Given the description of an element on the screen output the (x, y) to click on. 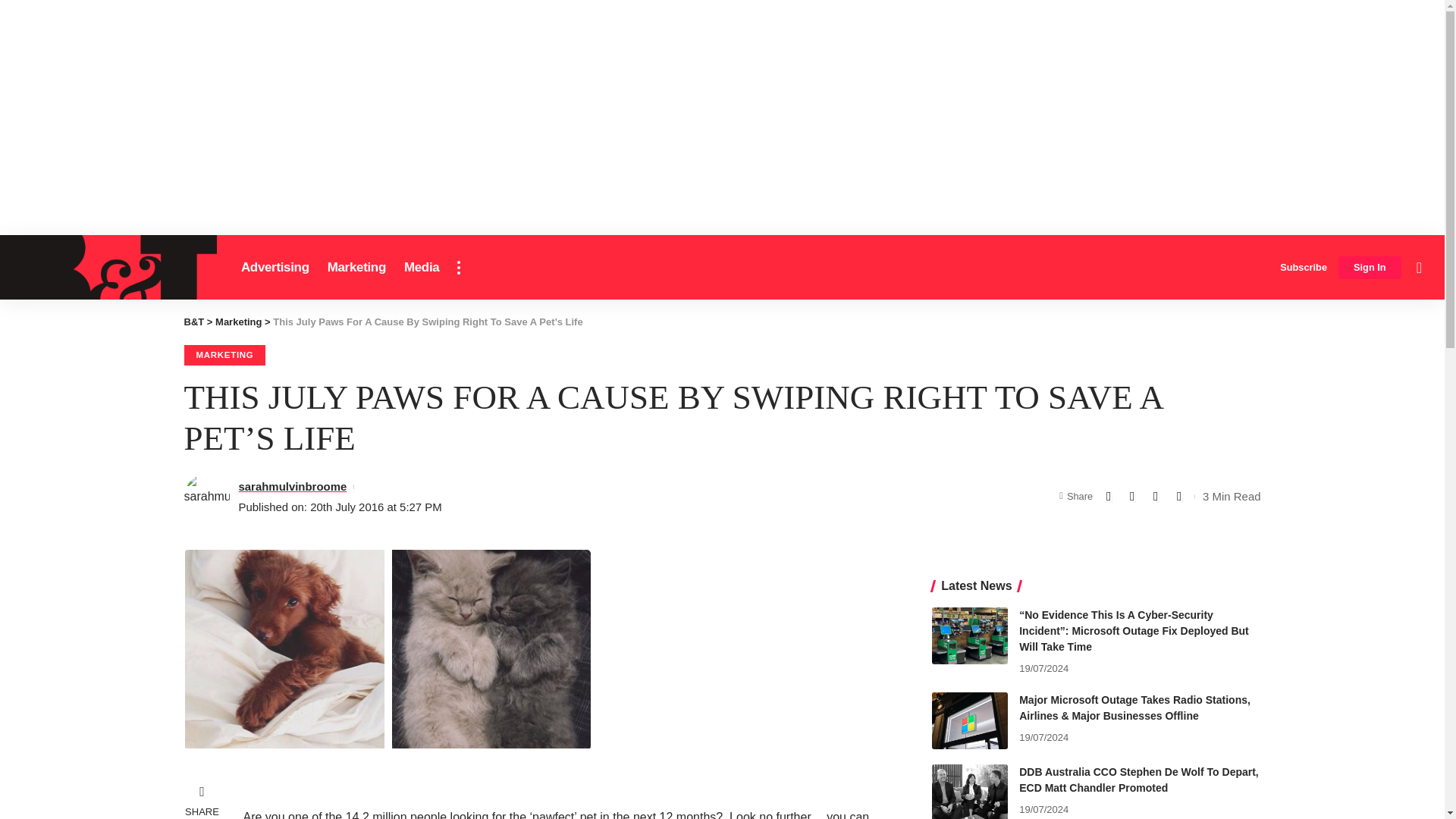
Go to the Marketing Category archives. (238, 321)
Marketing (356, 267)
Advertising (274, 267)
Sign In (1369, 267)
